Given the description of an element on the screen output the (x, y) to click on. 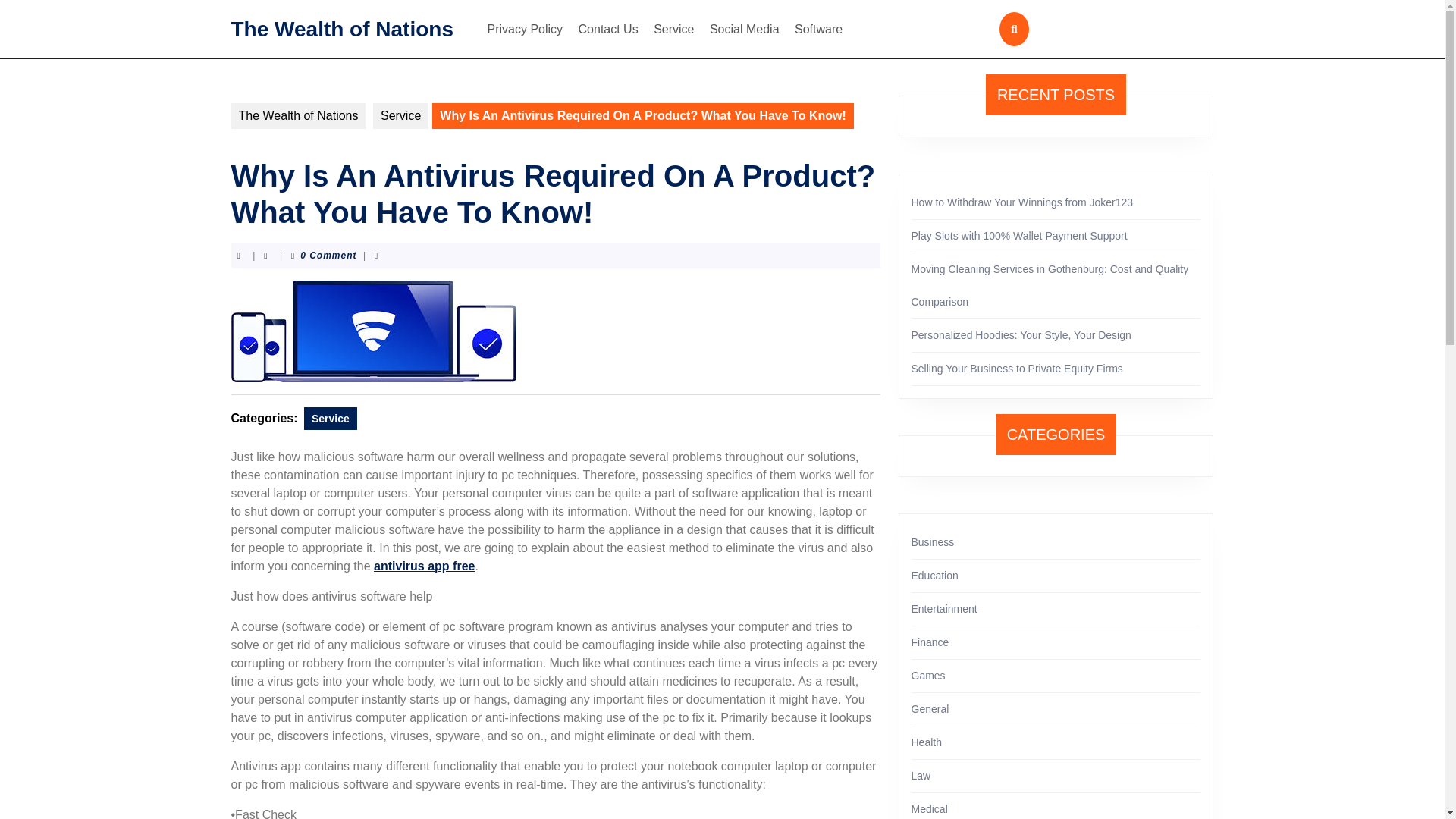
Contact Us (608, 28)
The Wealth of Nations (297, 115)
How to Withdraw Your Winnings from Joker123 (1022, 202)
antivirus app free (424, 565)
Privacy Policy (524, 28)
Service (330, 418)
Personalized Hoodies: Your Style, Your Design (1021, 335)
Service (673, 28)
Business (933, 541)
